Given the description of an element on the screen output the (x, y) to click on. 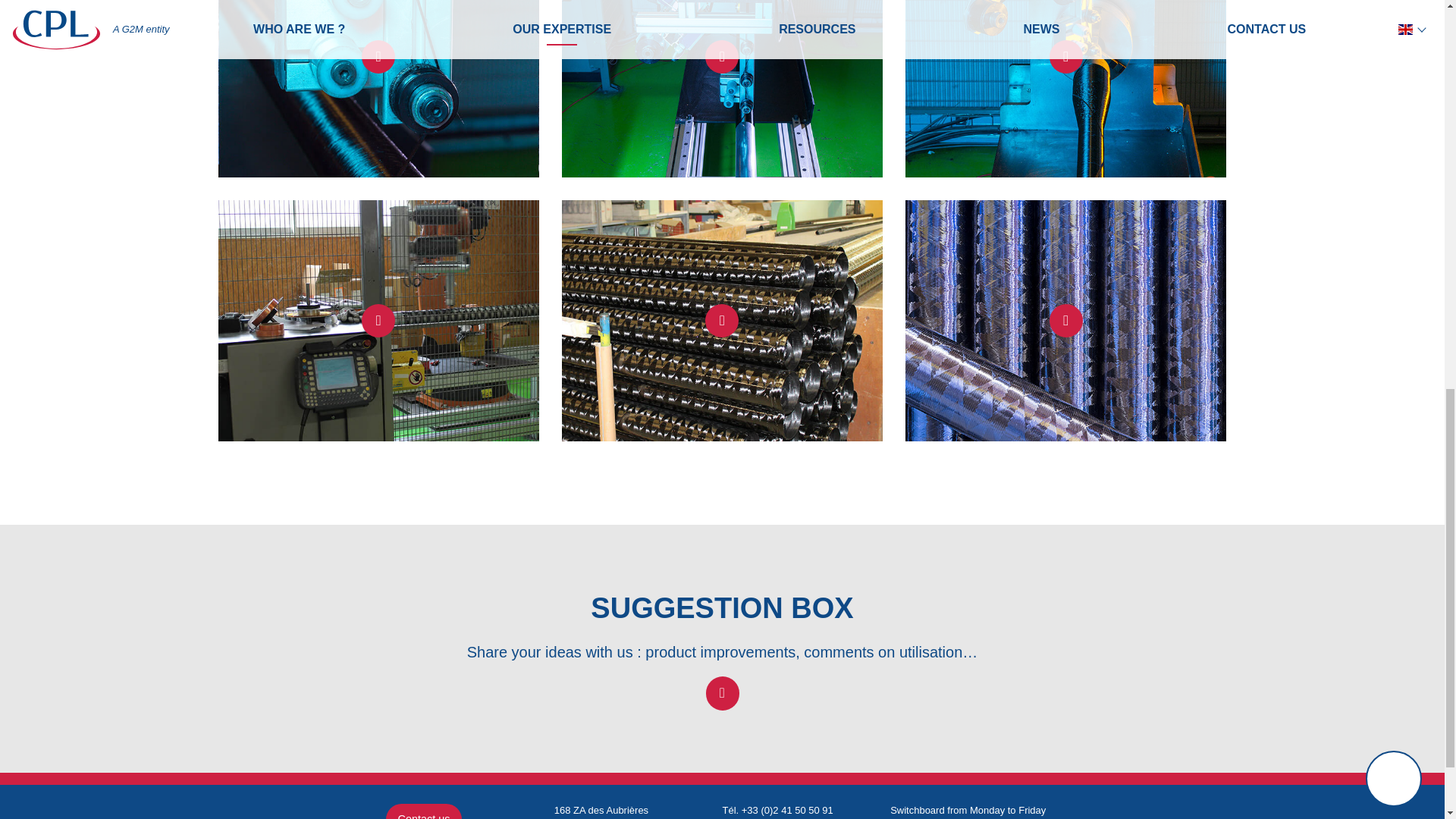
enroulement-filamentaire-3 (1065, 88)
enroulement-filamentaire-2 (722, 88)
stock-tubes-carbones (722, 319)
Propose an idea (721, 693)
enroulement-filamentaire-1 (378, 88)
salle-enroulement-filamentaire (378, 319)
tubes-carbones (1065, 319)
